Given the description of an element on the screen output the (x, y) to click on. 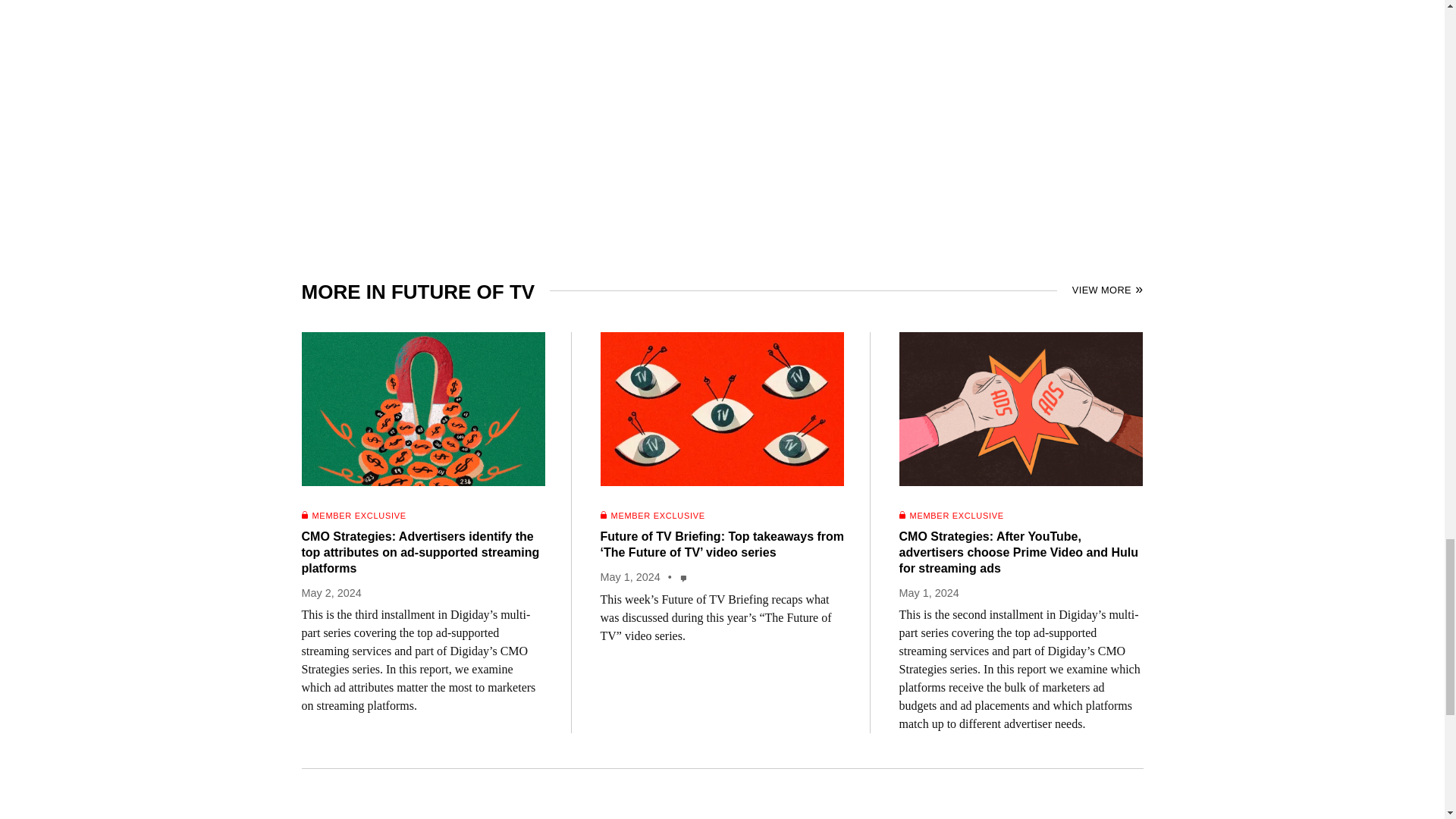
Join the conversation (683, 577)
